Given the description of an element on the screen output the (x, y) to click on. 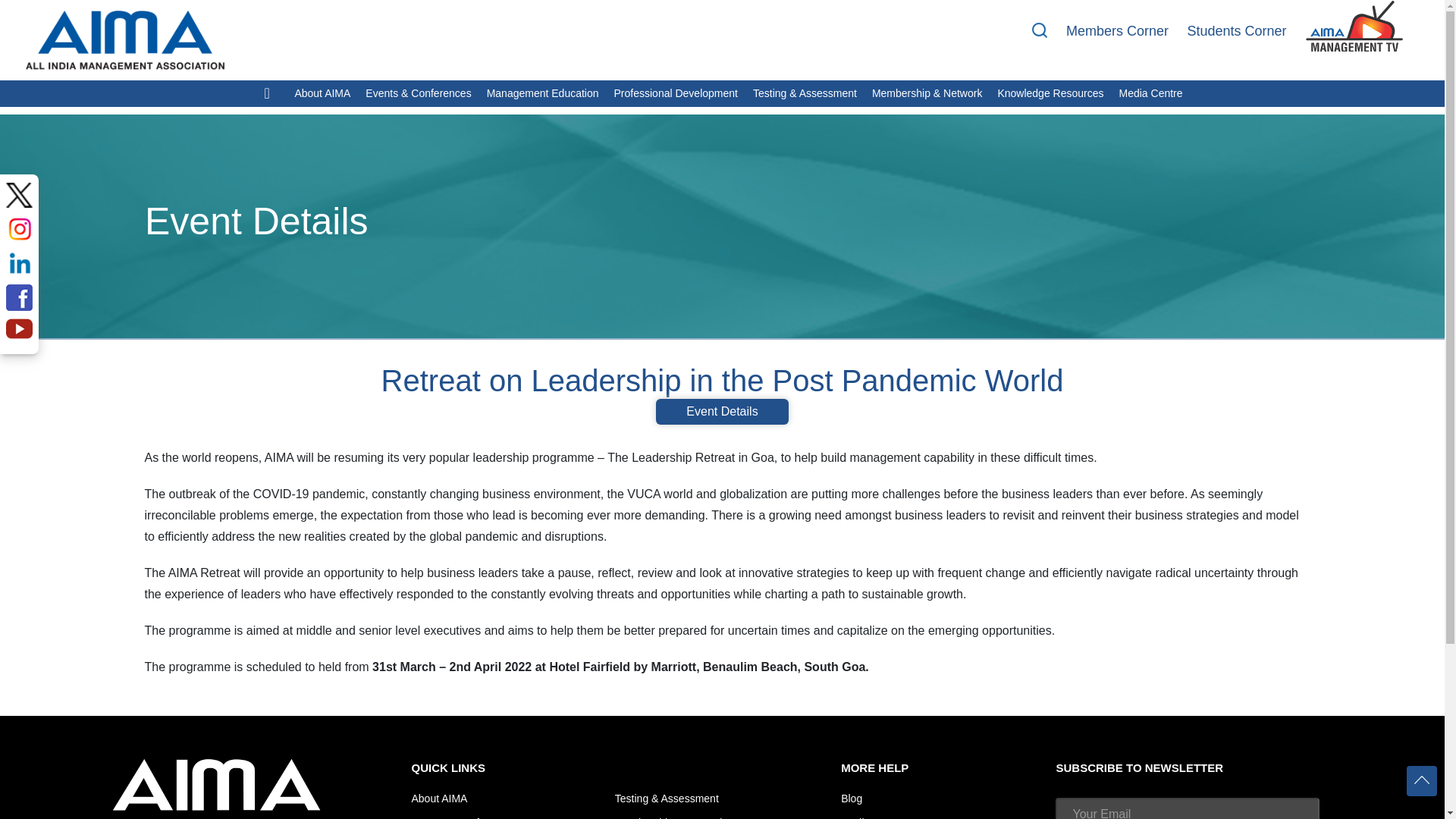
About AIMA (322, 93)
Students Corner (1235, 30)
Members Corner (1117, 30)
Management Education (543, 93)
Professional Development (676, 93)
